Given the description of an element on the screen output the (x, y) to click on. 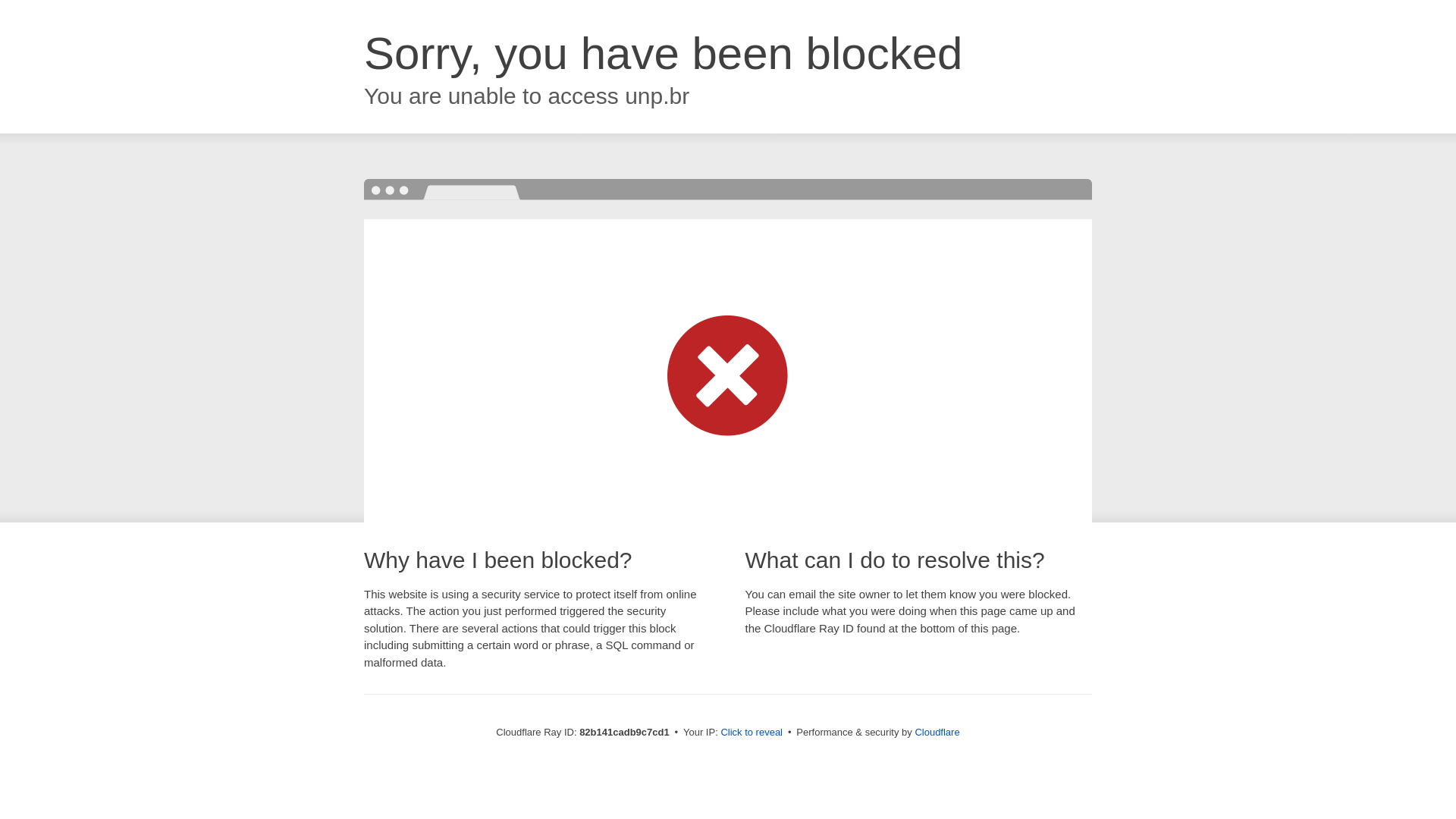
Cloudflare Element type: text (936, 731)
Click to reveal Element type: text (751, 732)
